Given the description of an element on the screen output the (x, y) to click on. 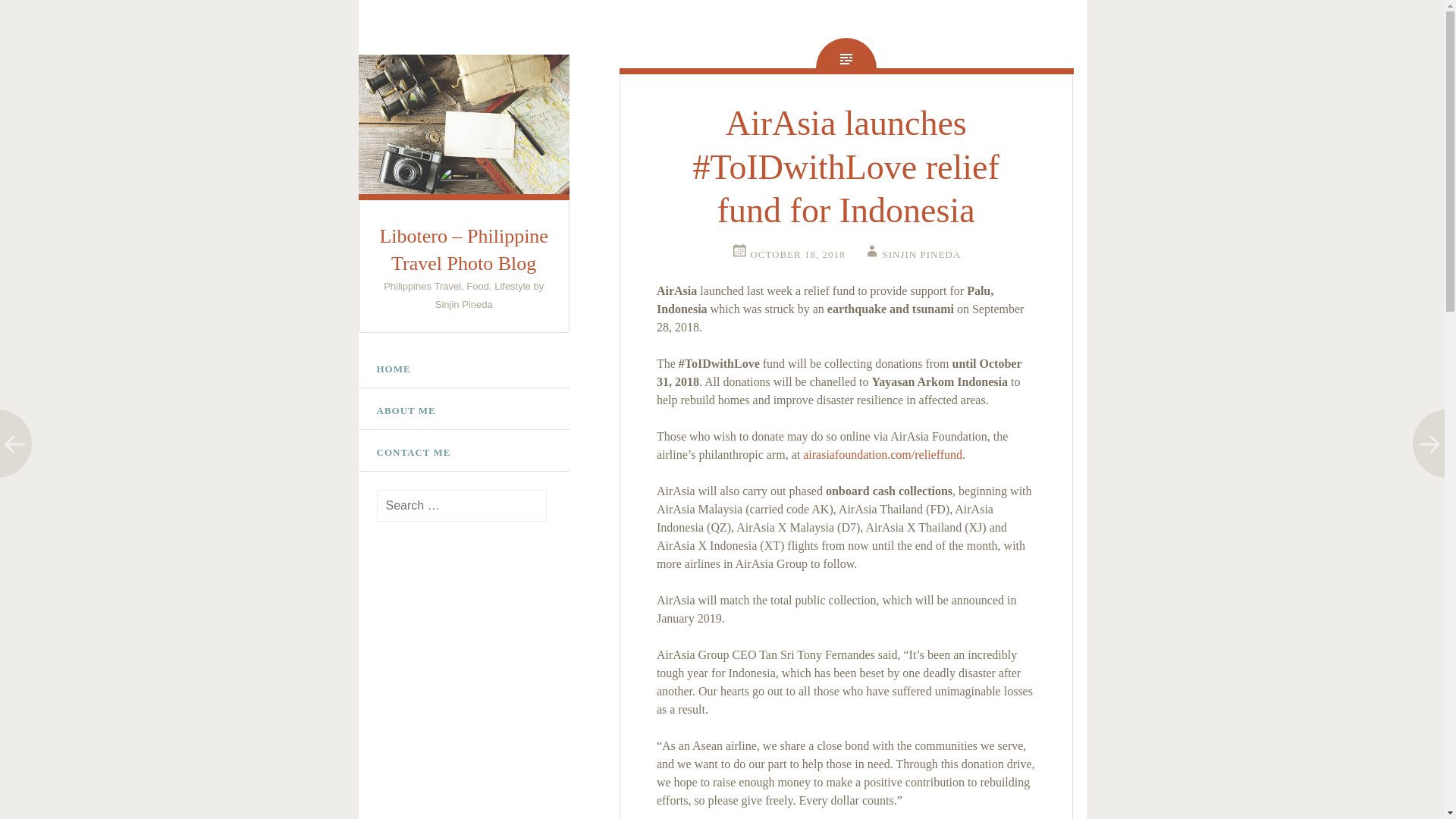
SKIP TO CONTENT (376, 359)
ABOUT ME (463, 411)
View all posts by Sinjin Pineda (911, 254)
OCTOBER 18, 2018 (787, 254)
Search (37, 16)
CONTACT ME (463, 452)
4:00 pm (787, 254)
SINJIN PINEDA (911, 254)
HOME (463, 369)
